Given the description of an element on the screen output the (x, y) to click on. 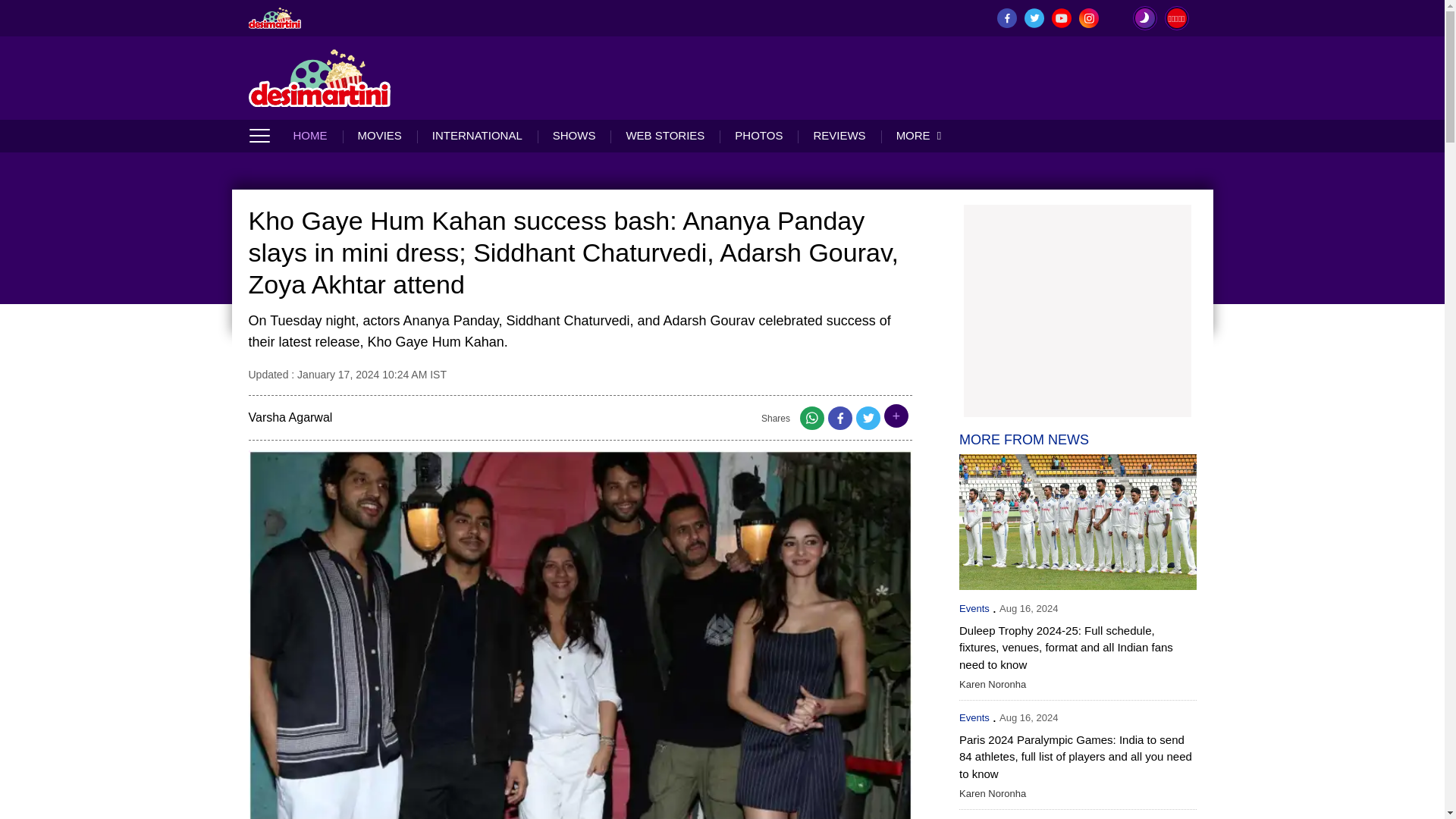
SHOWS (574, 135)
Facebook (839, 421)
REVIEWS (838, 135)
desimartini (274, 17)
WEB STORIES (664, 135)
desimartini (319, 77)
MOVIES (379, 135)
INTERNATIONAL (476, 135)
